Given the description of an element on the screen output the (x, y) to click on. 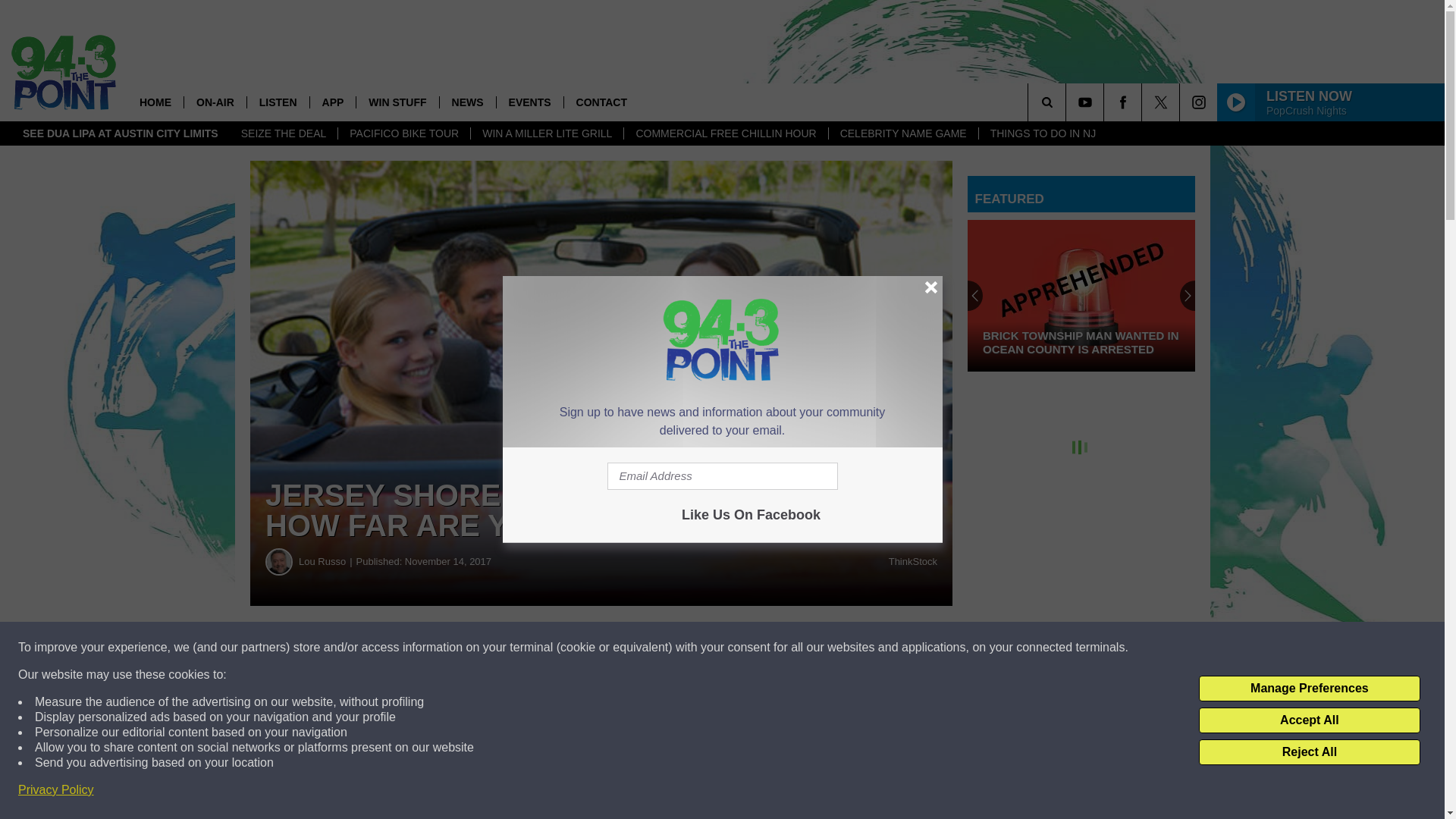
COMMERCIAL FREE CHILLIN HOUR (725, 133)
SEARCH (1068, 102)
SEARCH (1068, 102)
PACIFICO BIKE TOUR (403, 133)
HOME (155, 102)
Privacy Policy (55, 789)
SEE DUA LIPA AT AUSTIN CITY LIMITS (120, 133)
Share on Facebook (460, 647)
ON-AIR (214, 102)
Reject All (1309, 751)
WIN STUFF (396, 102)
SEIZE THE DEAL (283, 133)
CELEBRITY NAME GAME (903, 133)
Share on Twitter (741, 647)
APP (332, 102)
